Given the description of an element on the screen output the (x, y) to click on. 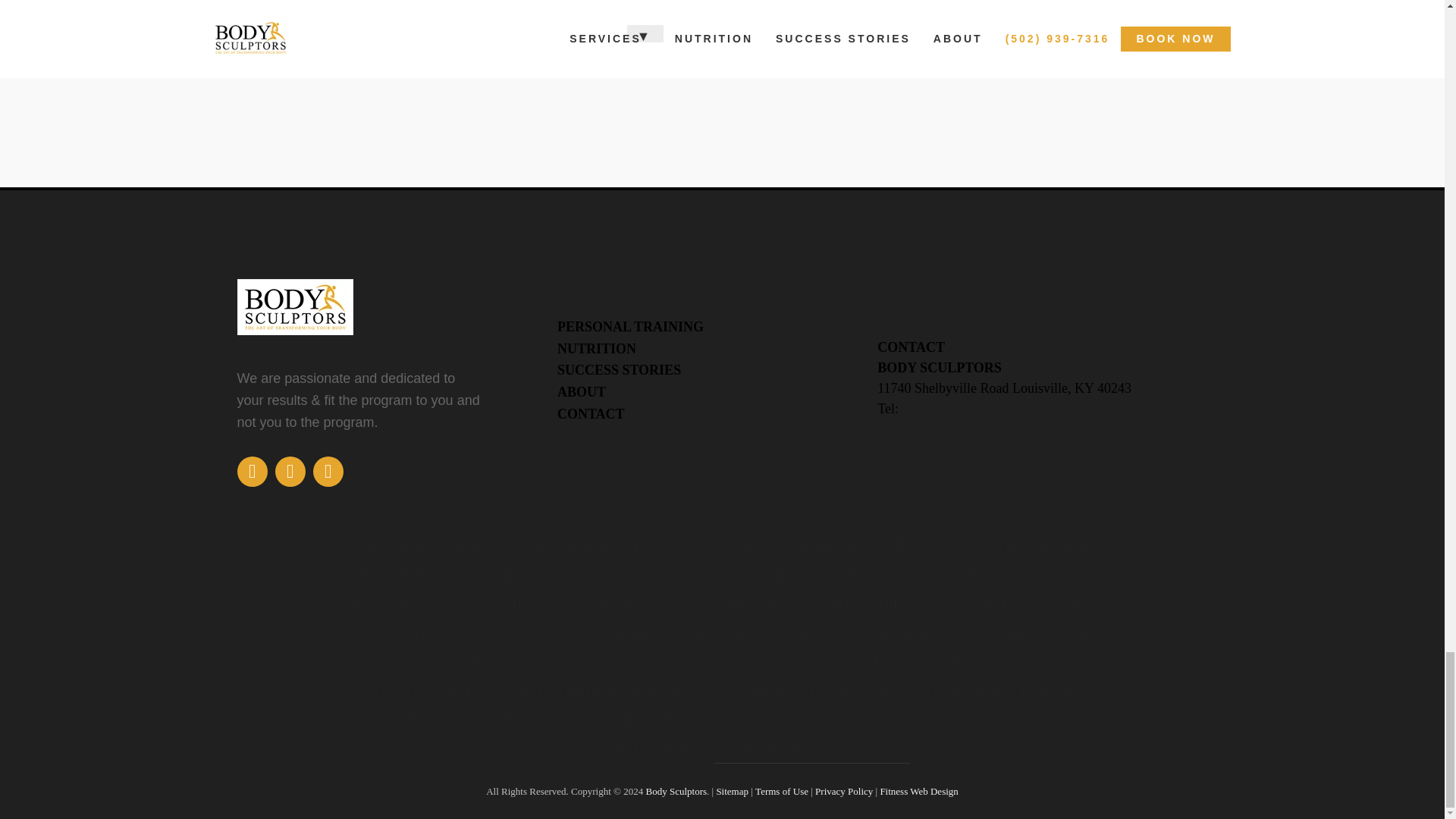
Personal Trainer Louisville (1042, 546)
NUTRITION (596, 348)
SUCCESS STORIES (619, 369)
Body Sculptors (675, 791)
Weight Loss In Louisville KY (409, 546)
Personal Training Louisville KY (620, 546)
PERSONAL TRAINING (630, 326)
CONTACT (590, 413)
ABOUT (581, 391)
Personal Trainers Louisville KY (838, 546)
